Given the description of an element on the screen output the (x, y) to click on. 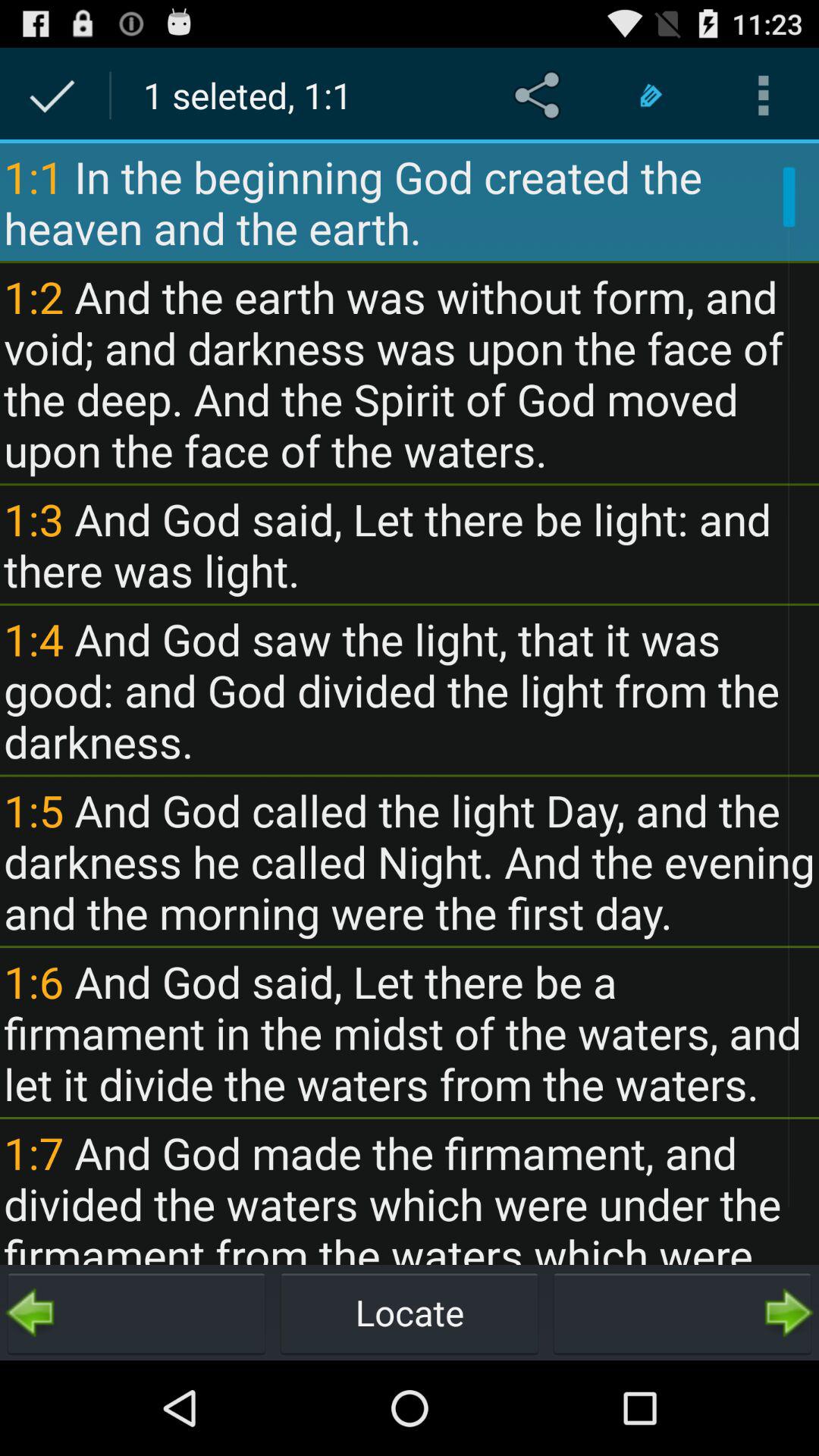
launch locate button (409, 1312)
